Given the description of an element on the screen output the (x, y) to click on. 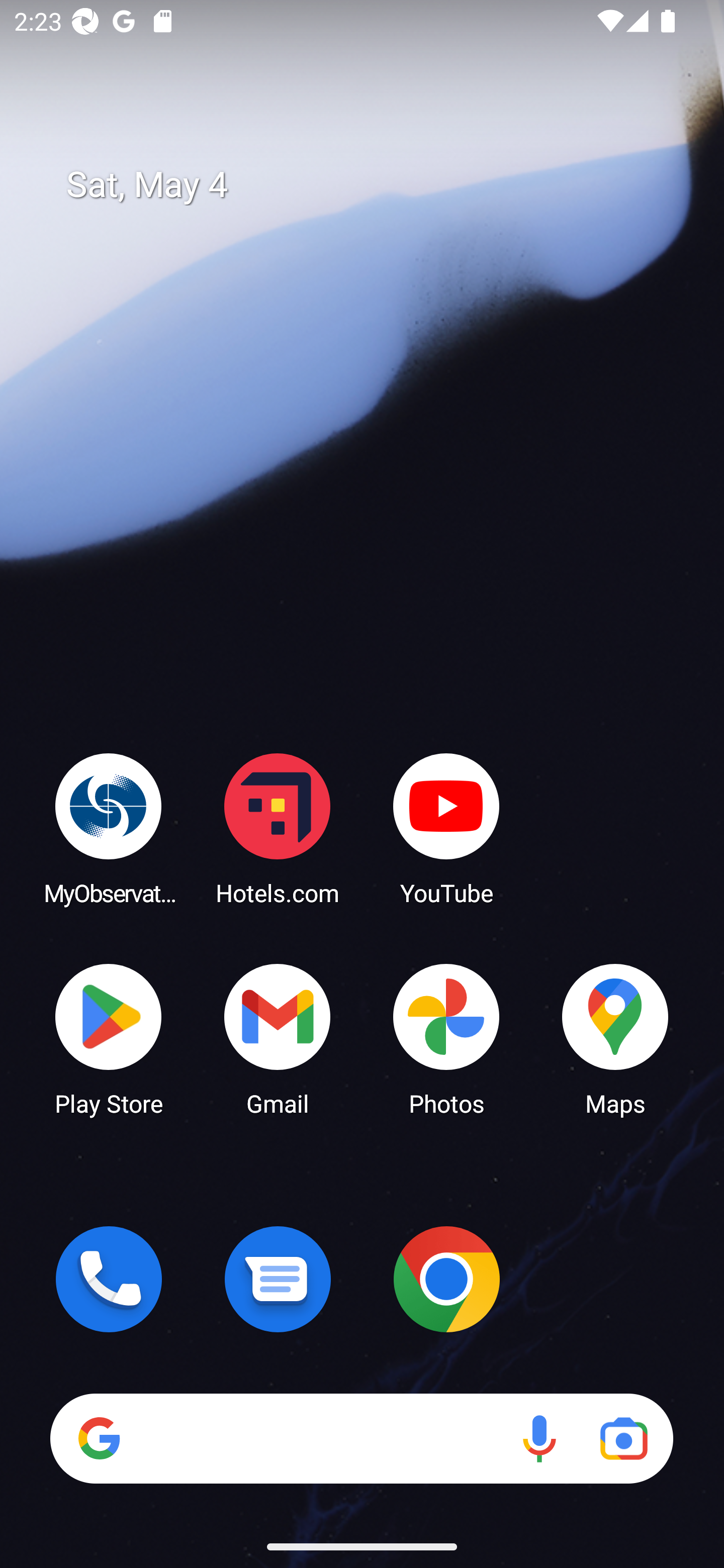
Sat, May 4 (375, 184)
MyObservatory (108, 828)
Hotels.com (277, 828)
YouTube (445, 828)
Play Store (108, 1038)
Gmail (277, 1038)
Photos (445, 1038)
Maps (615, 1038)
Phone (108, 1279)
Messages (277, 1279)
Chrome (446, 1279)
Search Voice search Google Lens (361, 1438)
Voice search (539, 1438)
Google Lens (623, 1438)
